Given the description of an element on the screen output the (x, y) to click on. 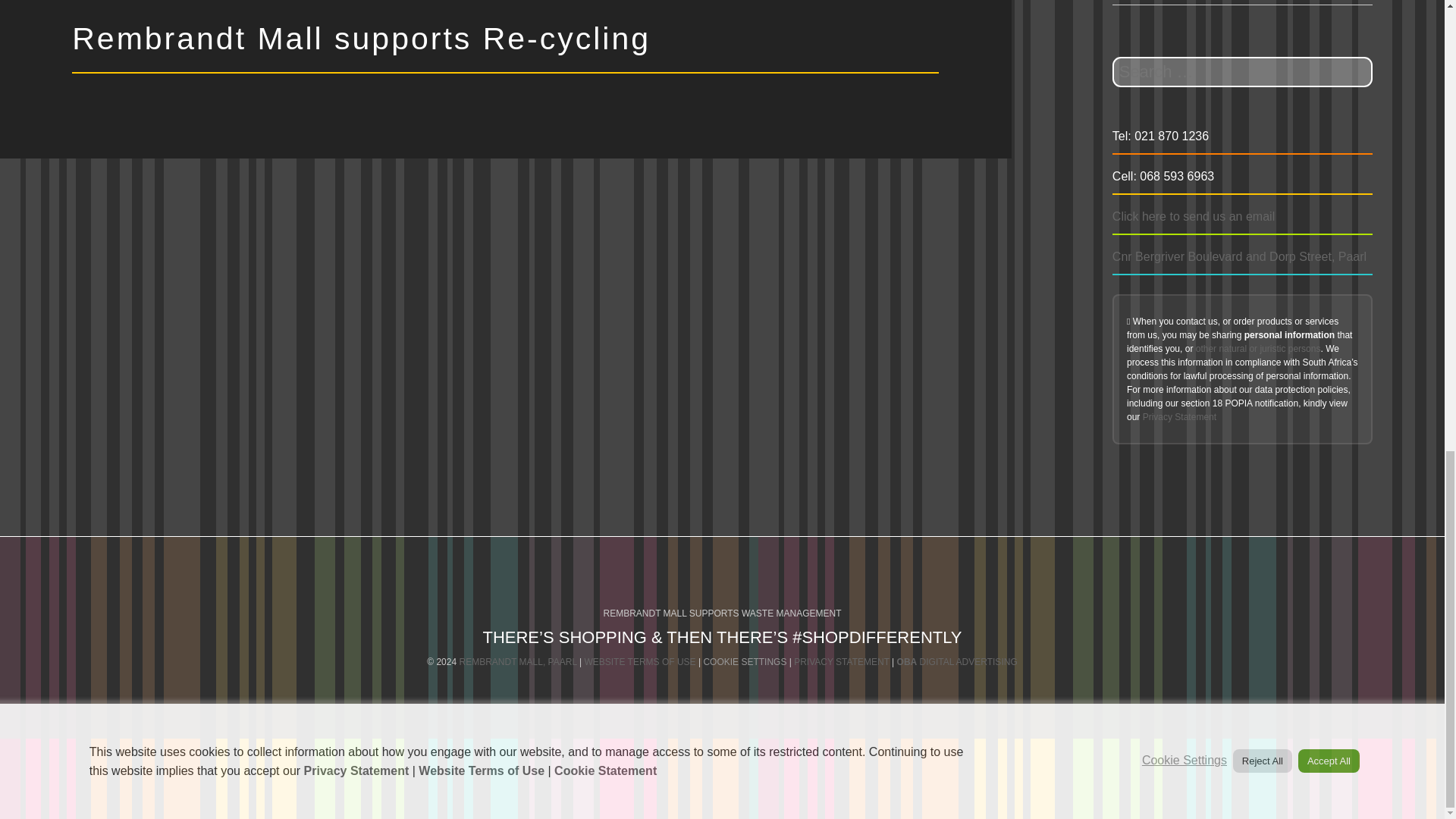
Click here to send us an email (1193, 215)
Cnr Bergriver Boulevard and Dorp Street, Paarl (1239, 256)
WEBSITE TERMS OF USE (639, 661)
other natural or juristic persons (1257, 348)
PRIVACY STATEMENT (841, 661)
Digital Advertising by Online Brand Ambassadors (956, 661)
REMBRANDT MALL, PAARL (517, 661)
OBA DIGITAL ADVERTISING (956, 661)
COOKIE SETTINGS (744, 661)
Privacy Statement (1178, 416)
